Given the description of an element on the screen output the (x, y) to click on. 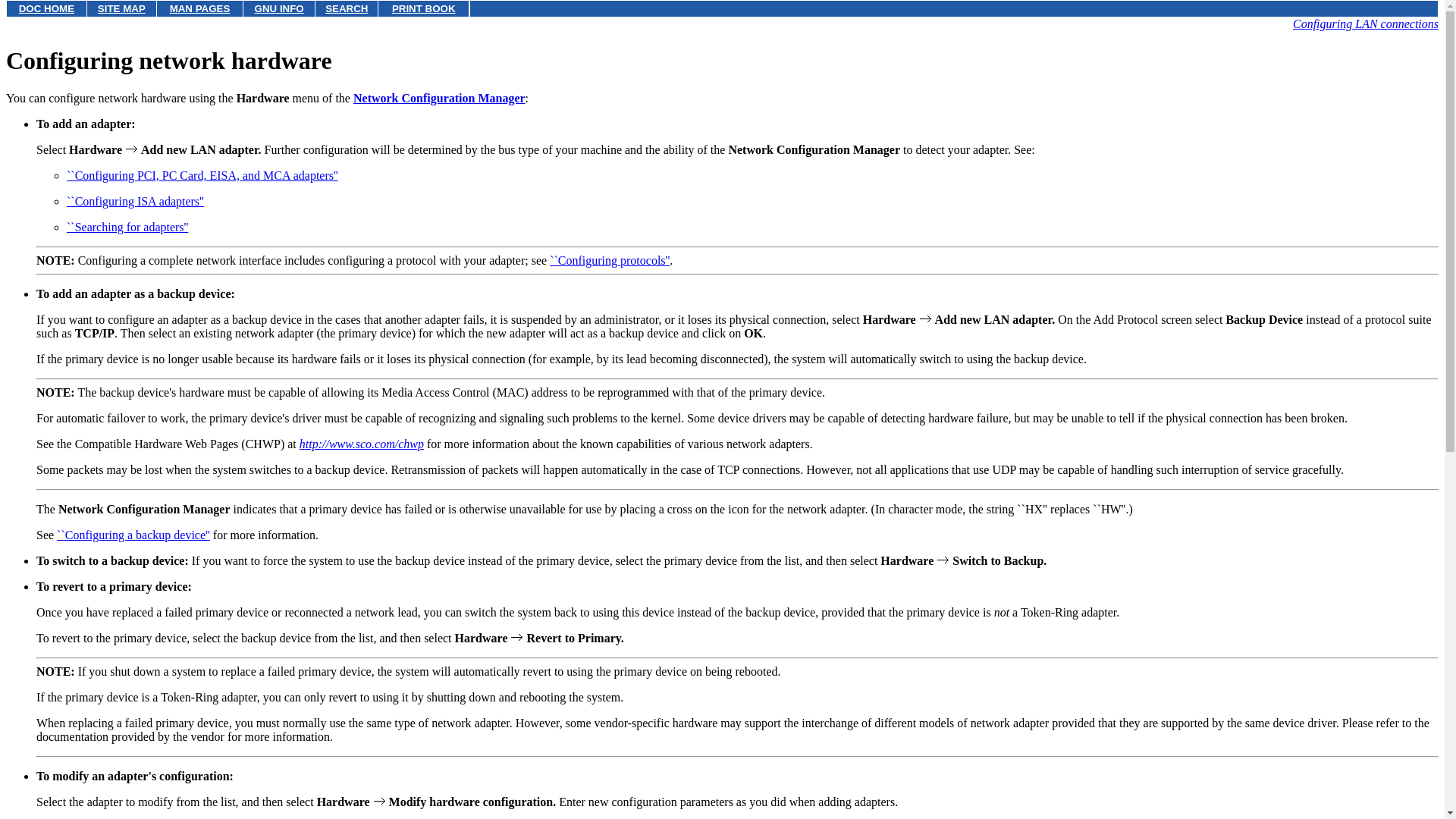
DOC HOME (46, 8)
SITE MAP (121, 8)
SEARCH (346, 8)
PRINT BOOK (423, 8)
Configuring LAN connections (1365, 23)
GNU INFO (279, 8)
Network Configuration Manager (439, 97)
MAN PAGES (200, 8)
